Given the description of an element on the screen output the (x, y) to click on. 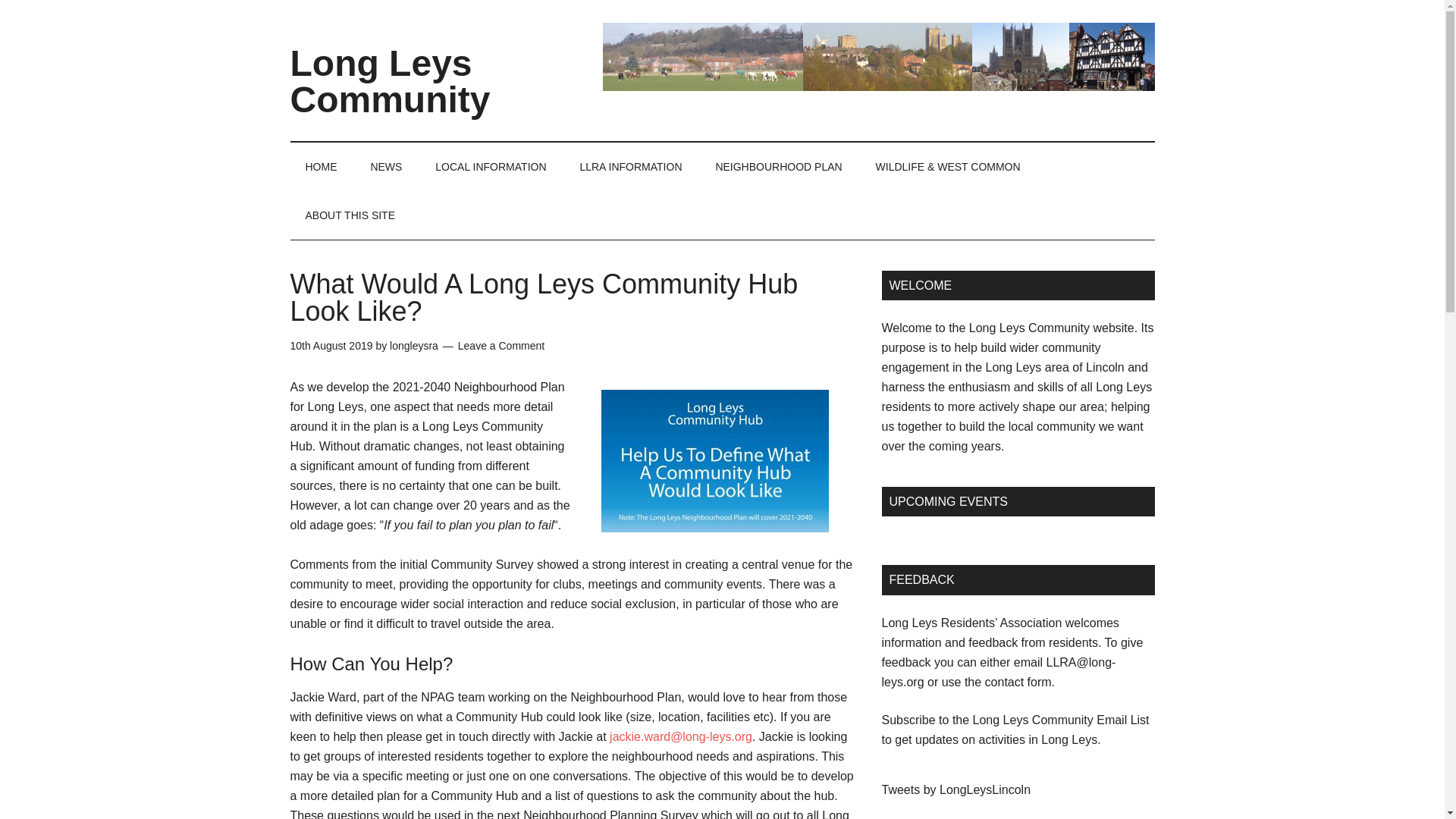
NEIGHBOURHOOD PLAN (778, 166)
HOME (320, 166)
LOCAL INFORMATION (490, 166)
Long Leys Community (389, 81)
LLRA INFORMATION (630, 166)
NEWS (385, 166)
